Given the description of an element on the screen output the (x, y) to click on. 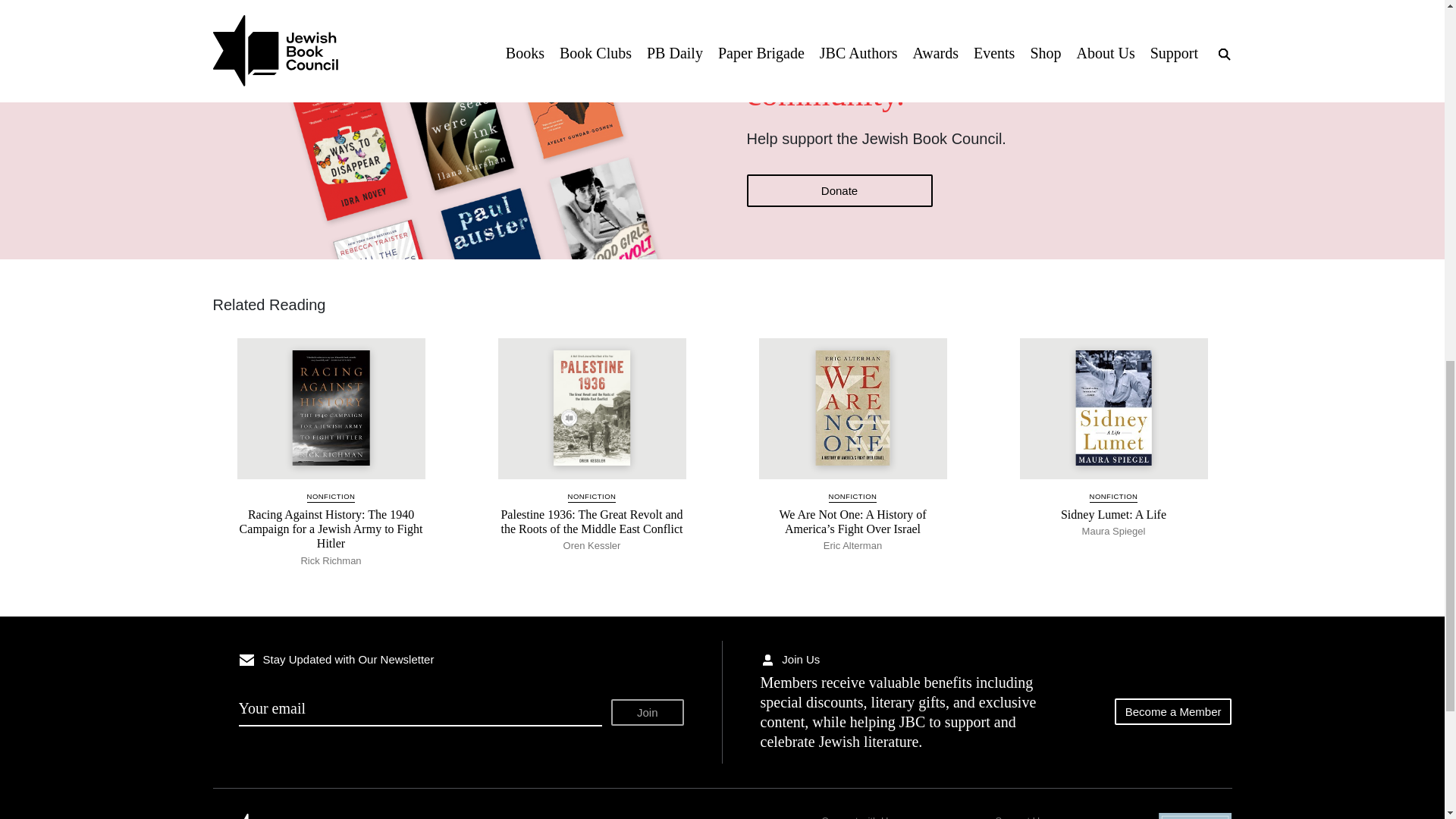
Join (647, 712)
